Given the description of an element on the screen output the (x, y) to click on. 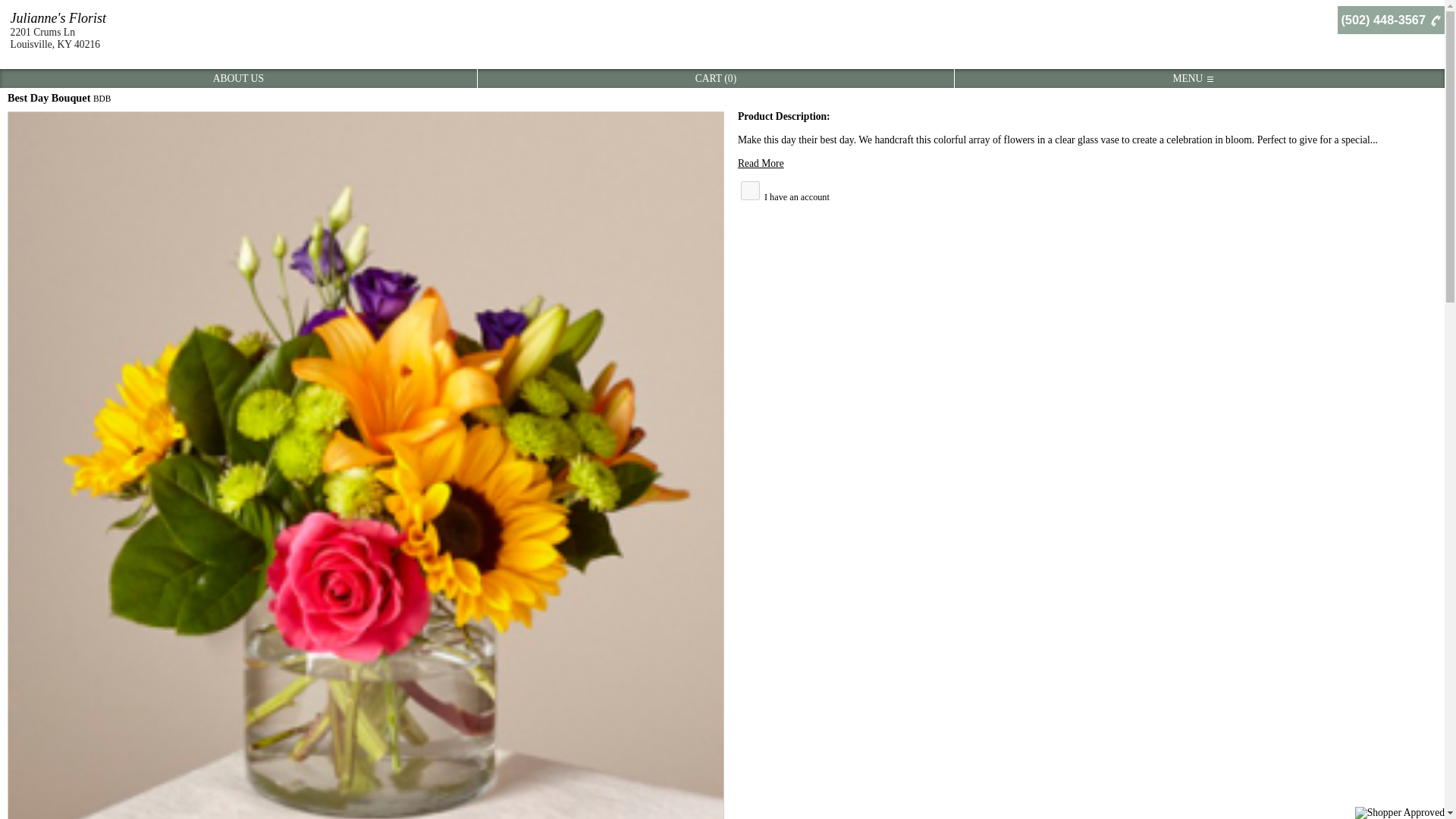
ABOUT US (237, 78)
MENU (1192, 78)
Read More (761, 163)
Y (750, 189)
Julianne's Florist (58, 18)
